Given the description of an element on the screen output the (x, y) to click on. 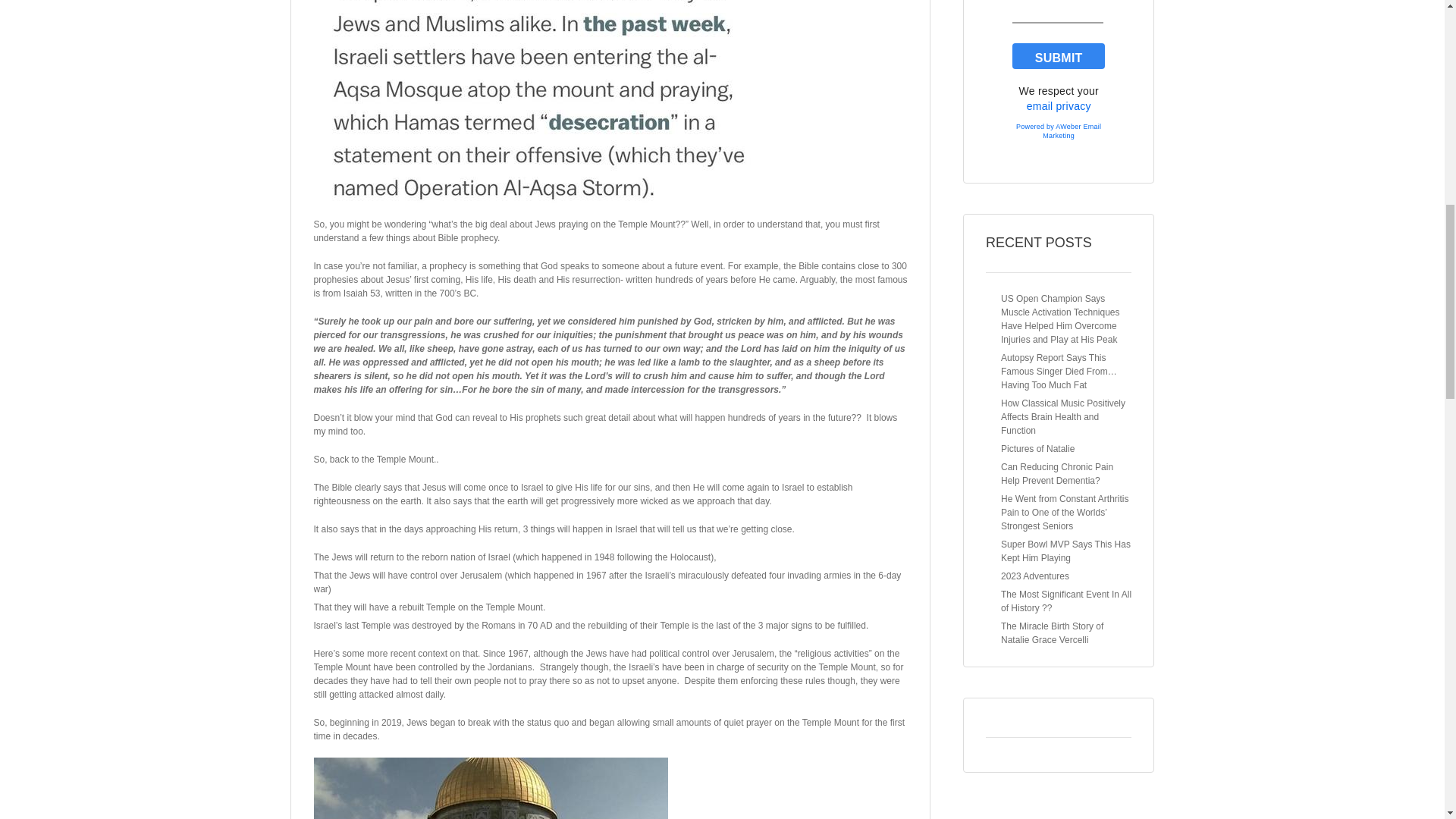
Super Bowl MVP Says This Has Kept Him Playing (1066, 550)
2023 Adventures (1034, 575)
The Most Significant Event In All of History ?? (1066, 600)
Submit (1058, 55)
Powered by AWeber Email Marketing (1058, 131)
Privacy Policy (1058, 105)
Pictures of Natalie (1037, 448)
The Miracle Birth Story of Natalie Grace Vercelli (1052, 632)
Submit (1058, 55)
Can Reducing Chronic Pain Help Prevent Dementia? (1057, 473)
email privacy (1058, 105)
AWeber Email Marketing (1058, 131)
